Given the description of an element on the screen output the (x, y) to click on. 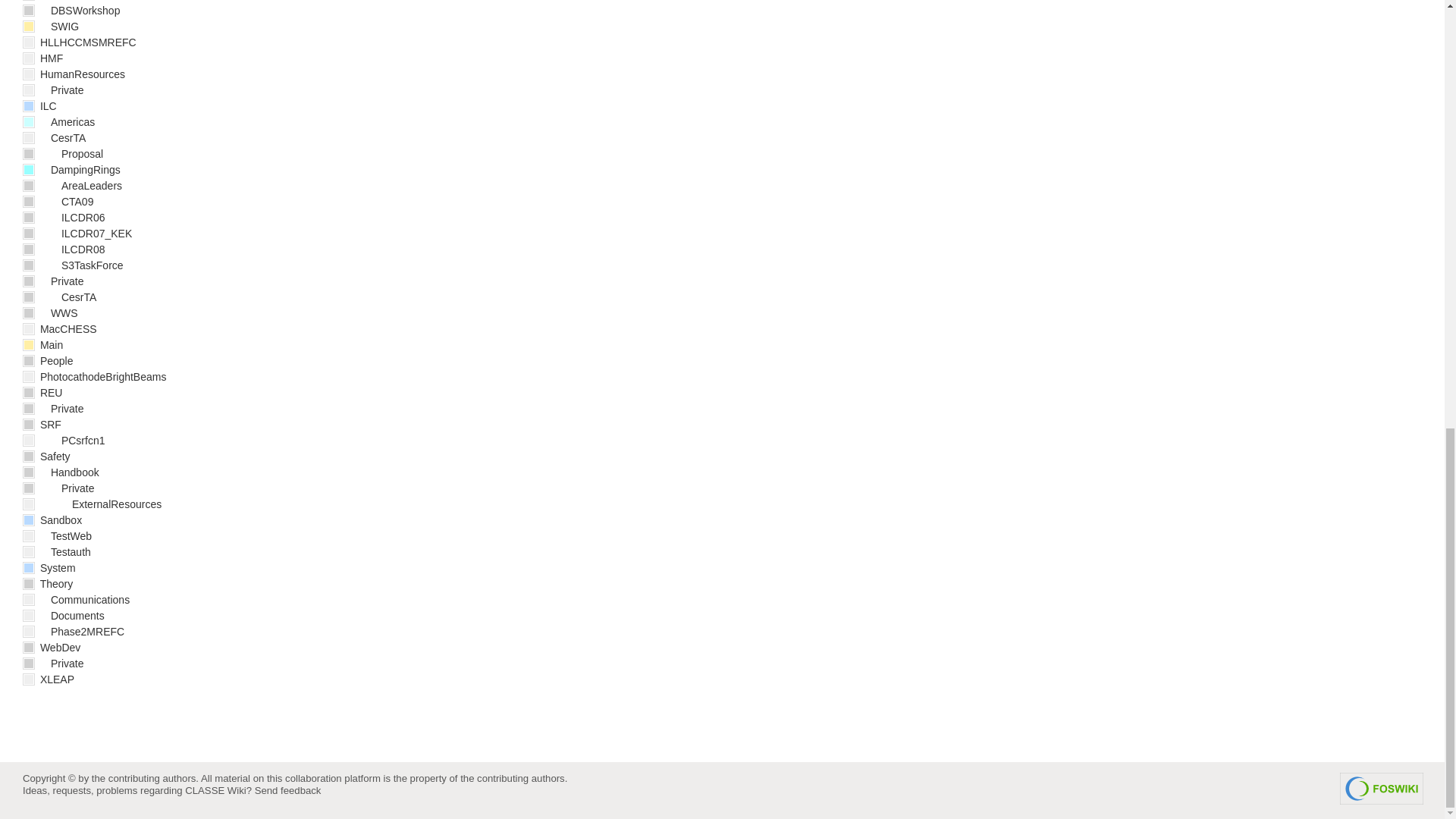
This site is powered by Foswiki (1381, 788)
